Given the description of an element on the screen output the (x, y) to click on. 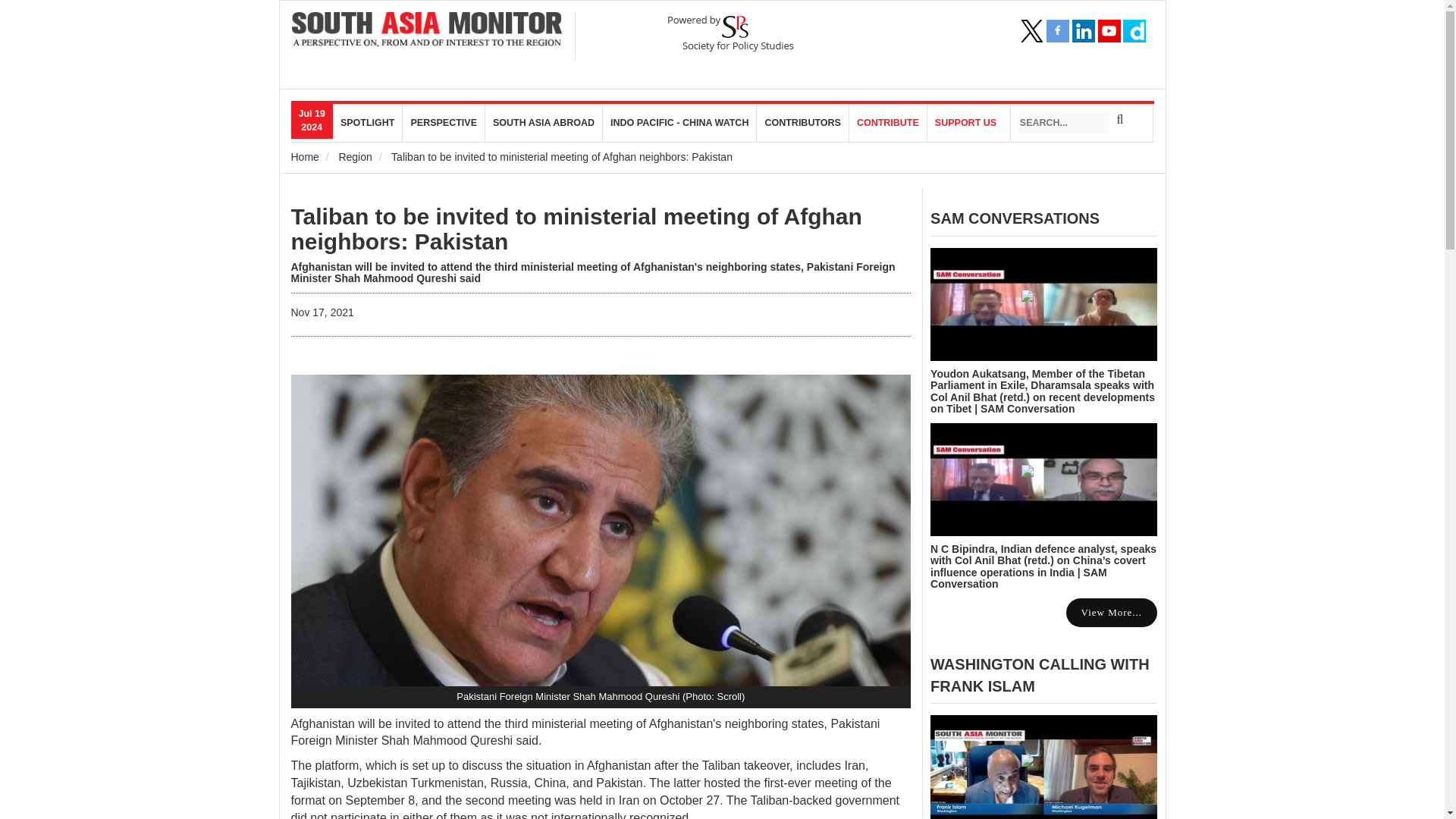
Home (304, 156)
Twitter (1031, 30)
SOUTH ASIA ABROAD (543, 122)
Facebook (1057, 30)
Region (354, 156)
PERSPECTIVE (443, 122)
Linkedin (1082, 30)
SPOTLIGHT (368, 122)
INDO PACIFIC - CHINA WATCH (679, 122)
Youtube (1109, 30)
